Given the description of an element on the screen output the (x, y) to click on. 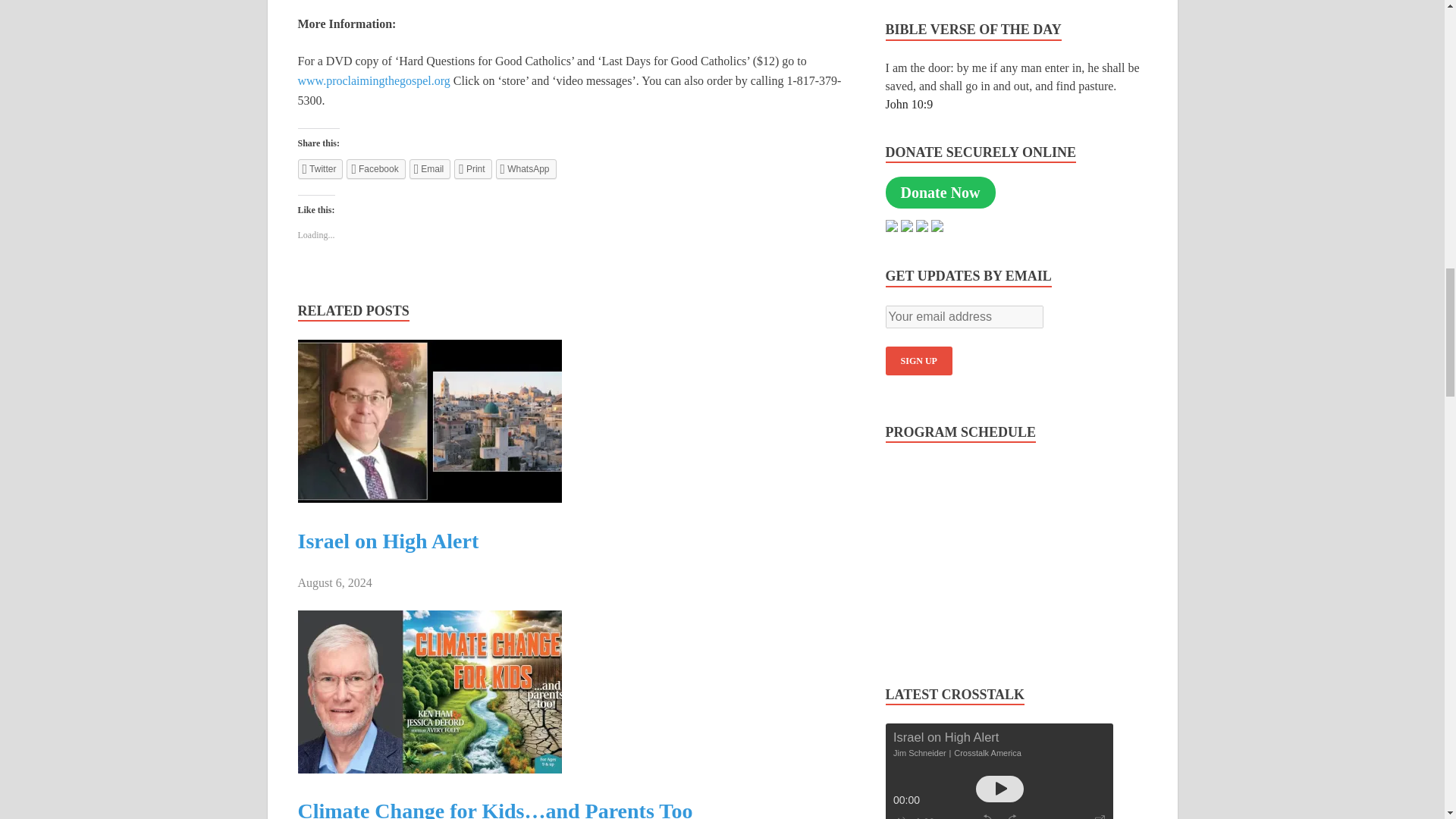
Israel on High Alert (428, 498)
Click to share on WhatsApp (526, 168)
Sign up (918, 360)
Click to print (473, 168)
Israel on High Alert (388, 540)
Click to share on Facebook (375, 168)
Click to share on Twitter (319, 168)
Click to email a link to a friend (430, 168)
